Given the description of an element on the screen output the (x, y) to click on. 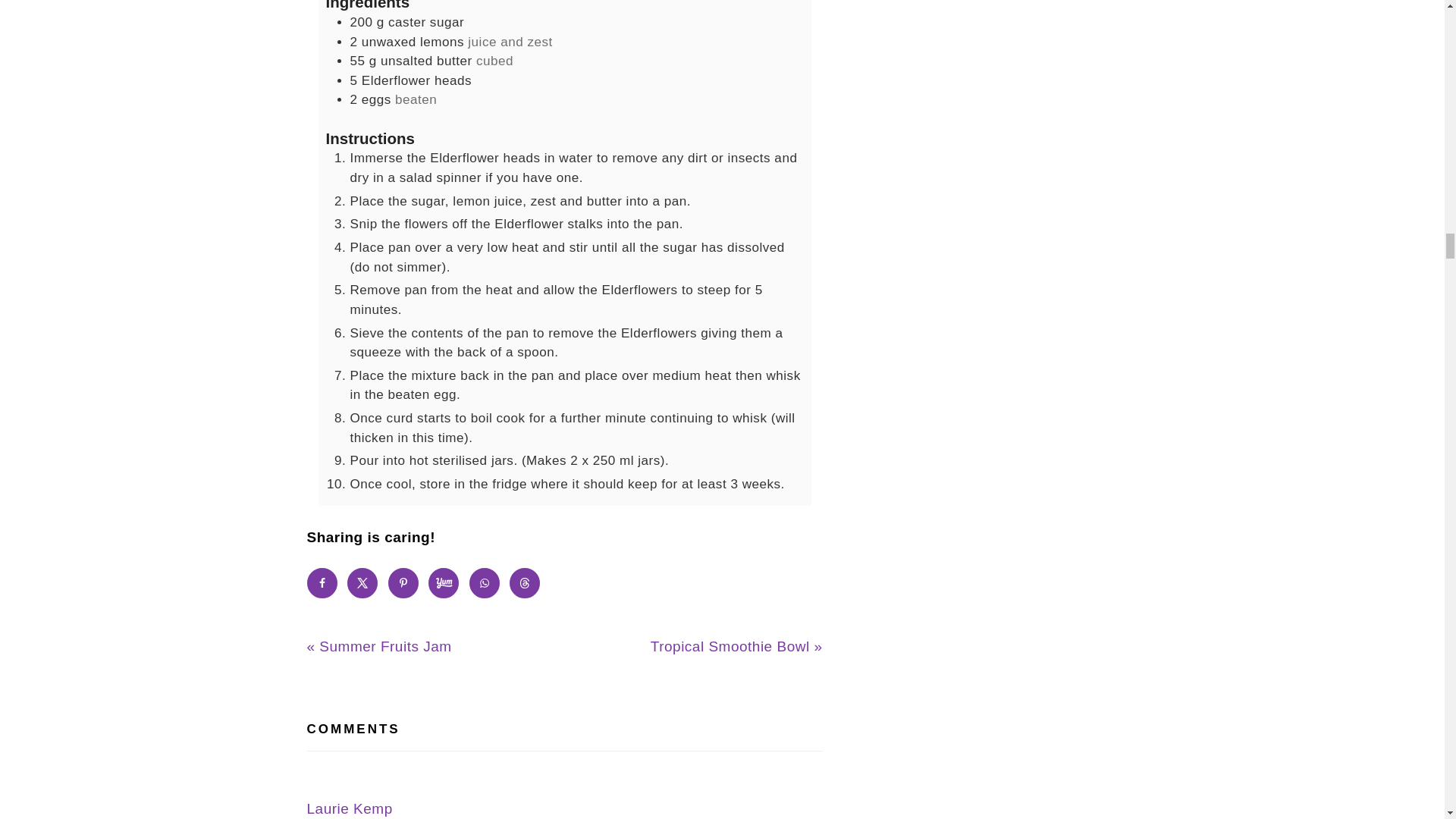
Share on Facebook (320, 583)
Share on Threads (524, 583)
Share on WhatsApp (483, 583)
Save to Pinterest (403, 583)
Share on Yummly (443, 583)
Share on X (362, 583)
